Given the description of an element on the screen output the (x, y) to click on. 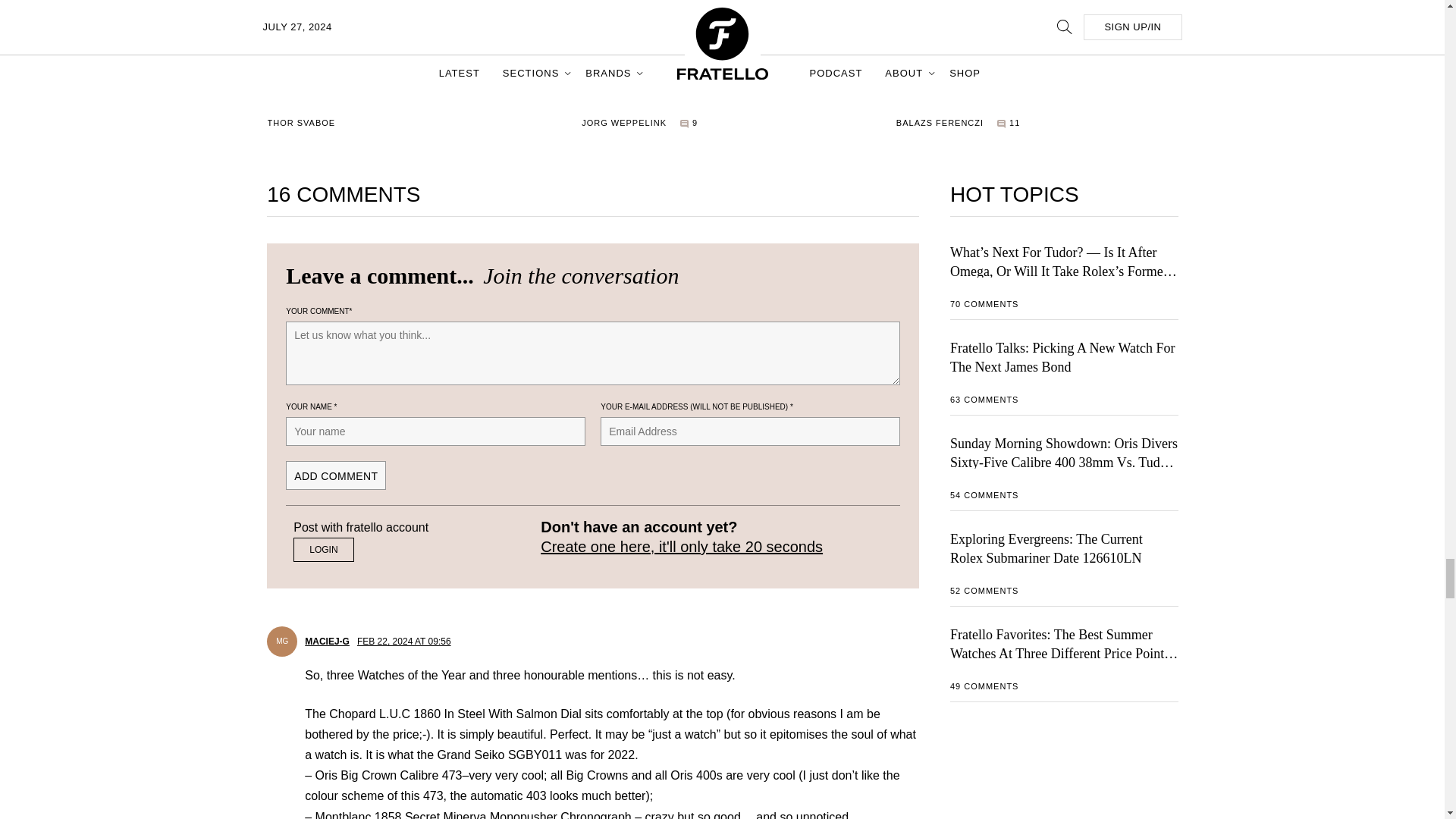
Add comment (335, 475)
